Given the description of an element on the screen output the (x, y) to click on. 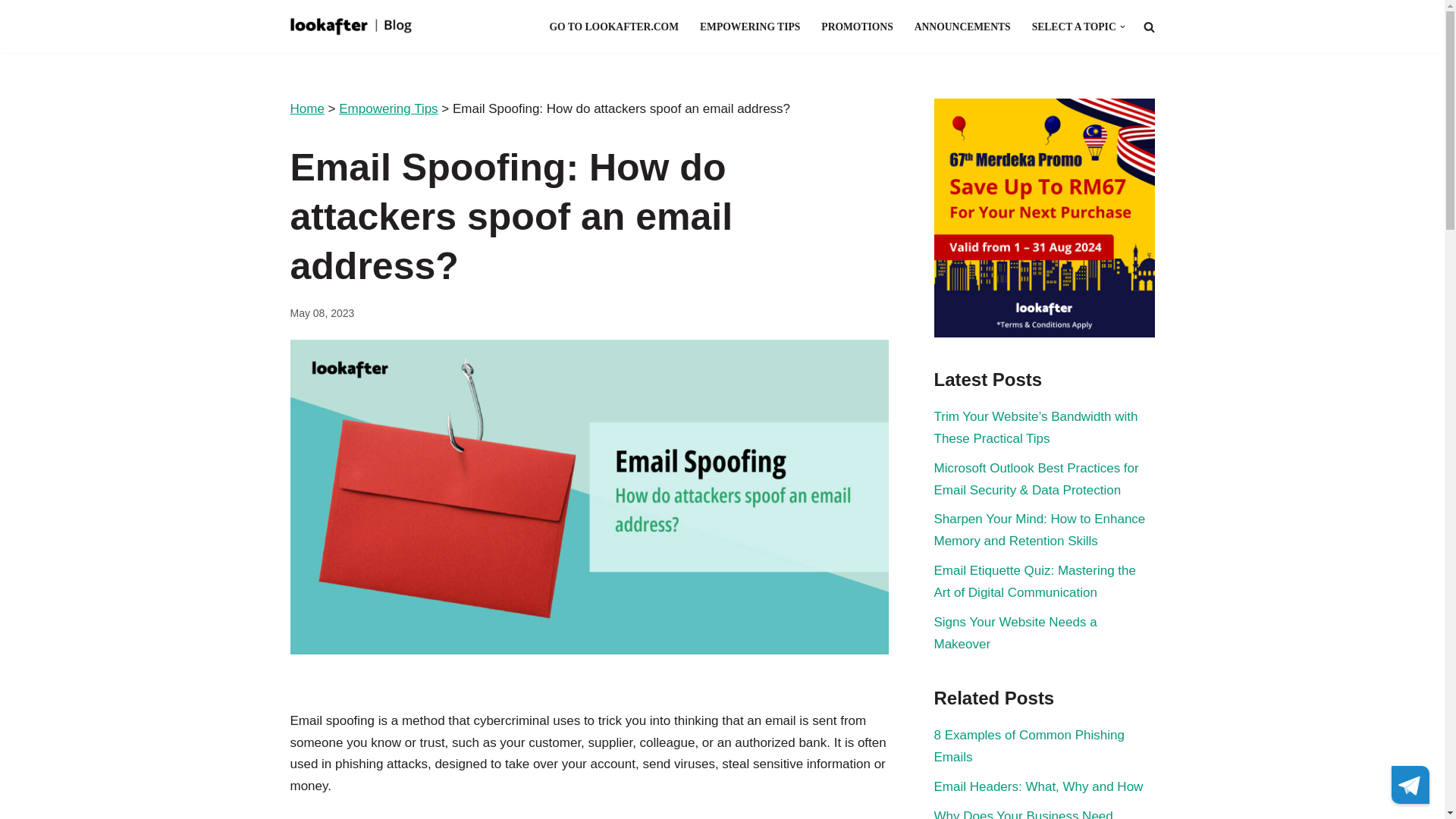
PROMOTIONS (856, 26)
Empowering Tips (388, 108)
Home (306, 108)
GO TO LOOKAFTER.COM (613, 26)
EMPOWERING TIPS (749, 26)
SELECT A TOPIC (1074, 26)
ANNOUNCEMENTS (962, 26)
Skip to content (11, 31)
